Given the description of an element on the screen output the (x, y) to click on. 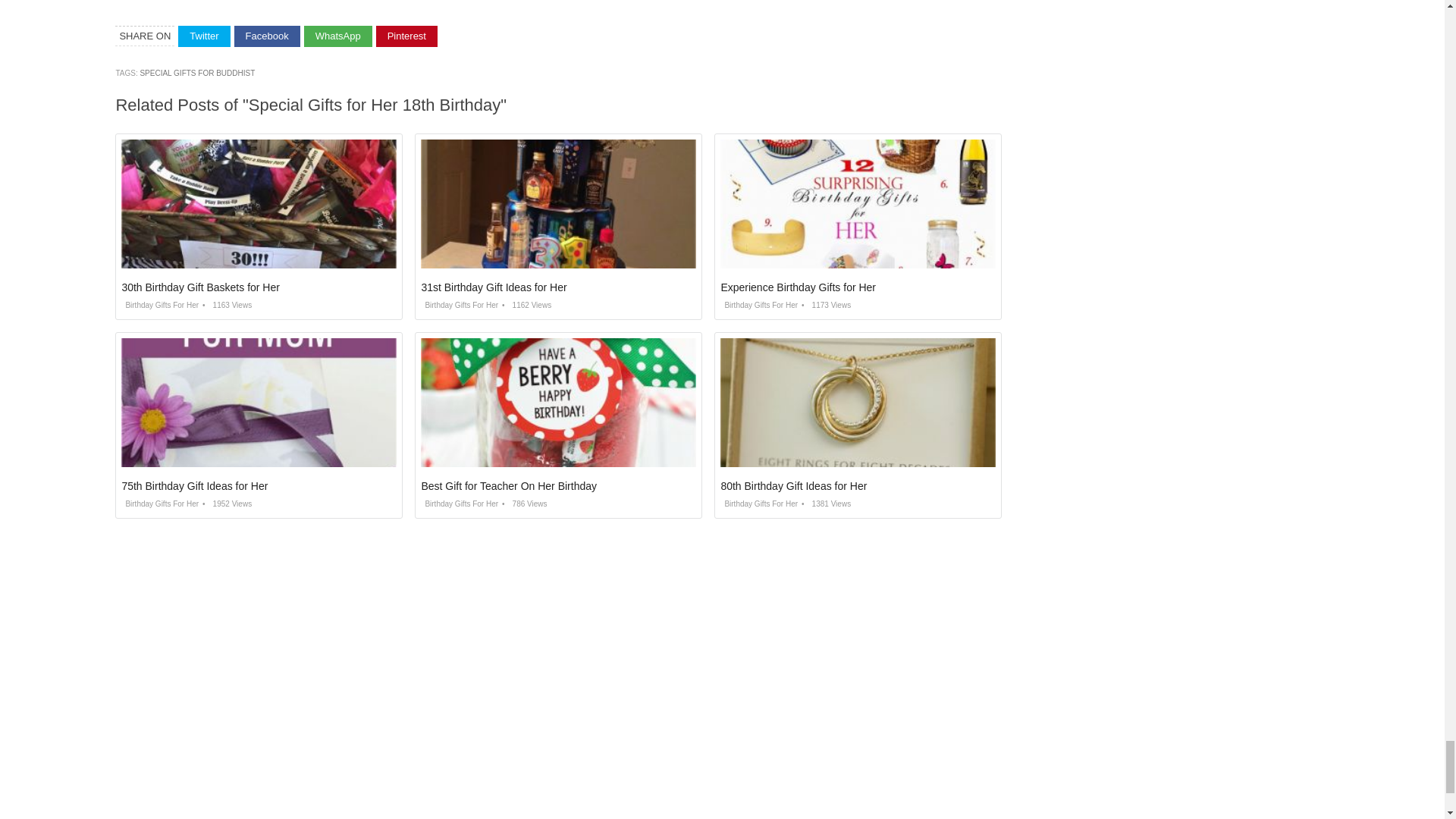
Twitter (203, 36)
Pinterest (406, 36)
Facebook (266, 36)
SPECIAL GIFTS FOR BUDDHIST (196, 72)
WhatsApp (338, 36)
